Given the description of an element on the screen output the (x, y) to click on. 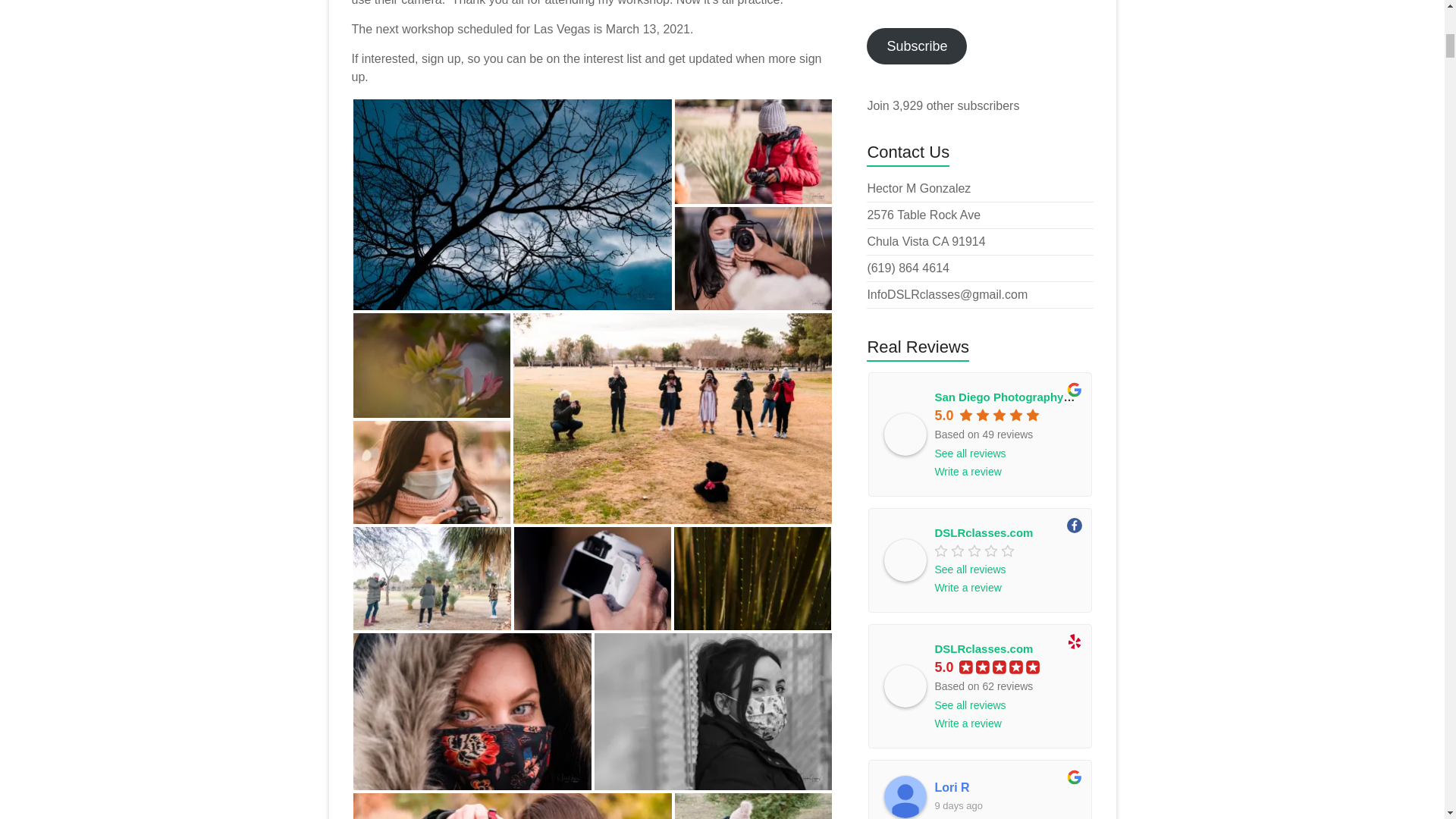
Vegas 20210123-167 (753, 806)
Vegas 20210123-159 (671, 418)
Vegas 20210123-158 (432, 472)
Vegas 20210123-162 (750, 578)
Vegas 20210123-166 (512, 806)
Vegas 20210123-155 (753, 151)
Vegas 20210123-156 (753, 259)
Vegas 20210123-161 (592, 578)
Vegas 20210123-163 (472, 711)
Vegas 20210123-153 (512, 204)
Vegas 20210123-160 (432, 578)
Vegas 20210123-164 (712, 711)
Vegas 20210123-157 (432, 364)
